Given the description of an element on the screen output the (x, y) to click on. 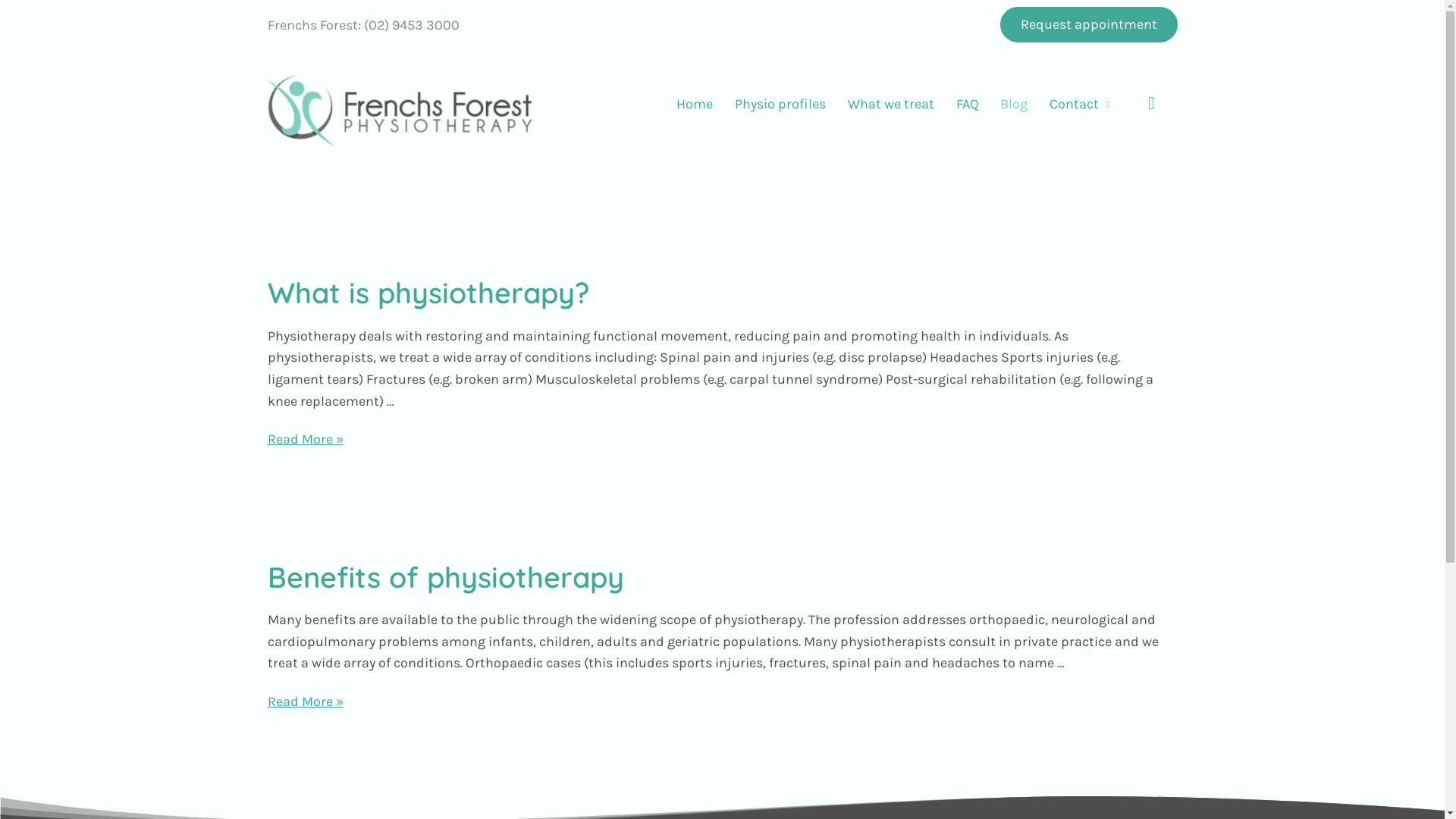
Frenchs Forest Element type: text (311, 24)
Physio profiles Element type: text (780, 103)
Contact Element type: text (1079, 103)
What we treat Element type: text (890, 103)
FAQ Element type: text (966, 103)
Search Element type: text (1149, 103)
What is physiotherapy? Element type: text (427, 292)
Home Element type: text (694, 103)
(02) 9453 3000 Element type: text (411, 24)
Request appointment Element type: text (1087, 24)
Benefits of physiotherapy Element type: text (444, 576)
Blog Element type: text (1013, 103)
